Given the description of an element on the screen output the (x, y) to click on. 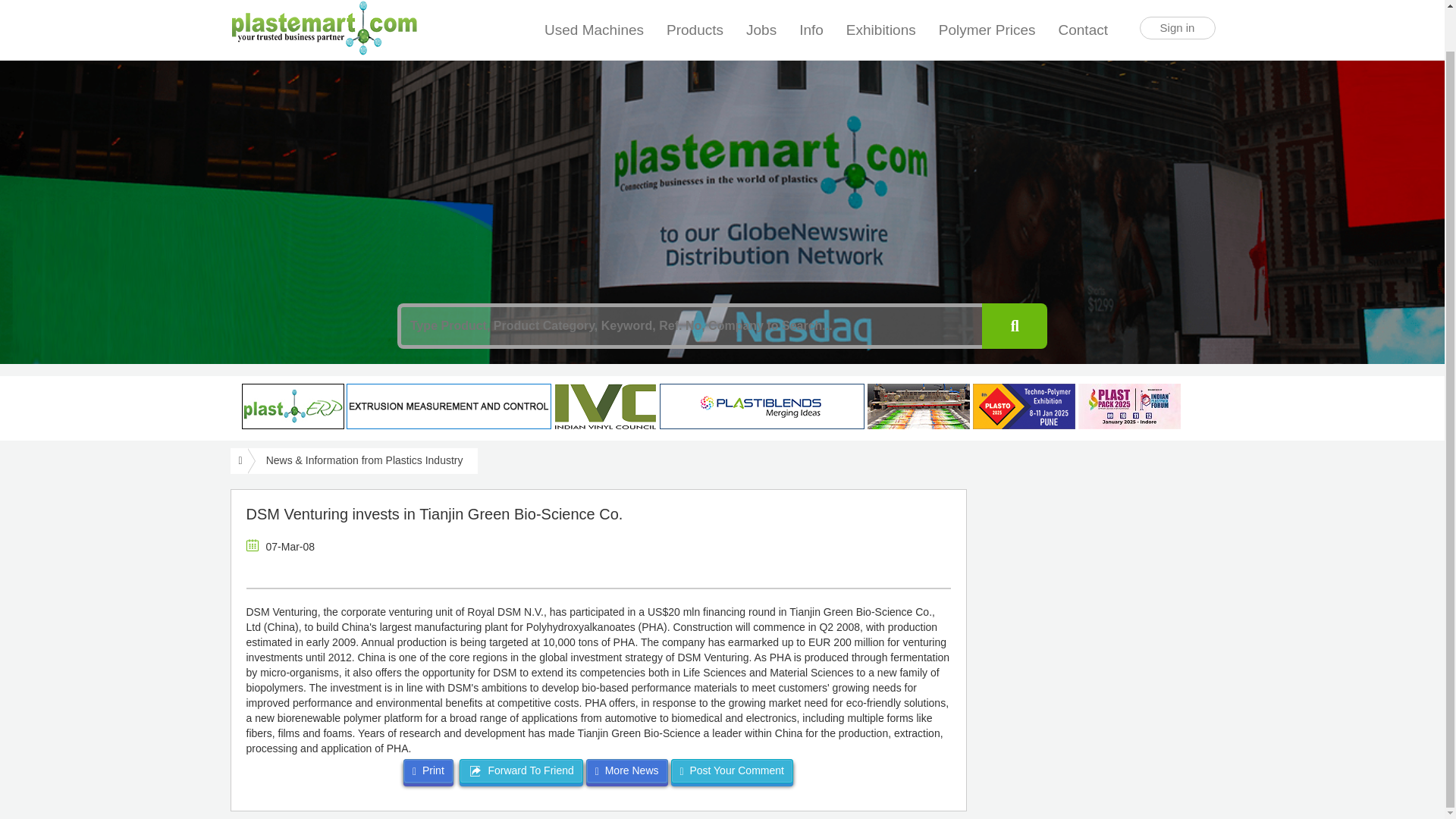
INDIAN VINYL COUNCIL (605, 406)
Used Machines (593, 8)
Exhibitions (880, 8)
Plast Pack 2025 (1129, 406)
plasterpHome (292, 406)
The worlds largest B2B portal for Plastics Industry (323, 6)
Manufacturer and supplier of plastic products (695, 8)
Information of Plast Mart Plastic Industry (810, 8)
Contact (1084, 1)
Info (810, 8)
Used Plastic Machines (593, 8)
Contact Us (1084, 1)
Products (695, 8)
Lohia Mechatronik (448, 406)
Polymer Prices (986, 8)
